Given the description of an element on the screen output the (x, y) to click on. 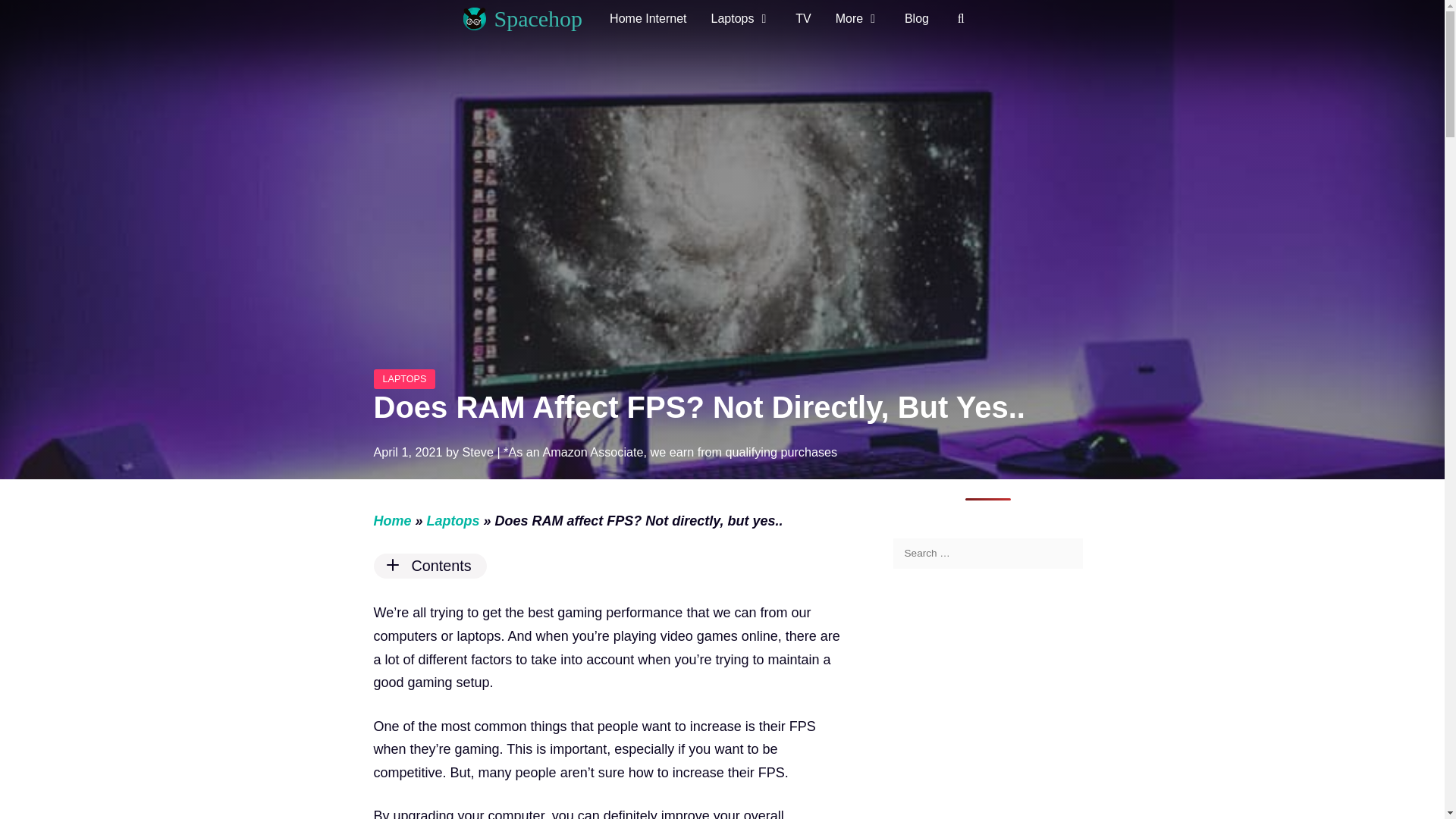
Laptops (741, 18)
TV (802, 18)
Blog (916, 18)
View all posts by Steve (477, 451)
Search for: (988, 553)
Home Internet (647, 18)
Spacehop (537, 18)
Contents (607, 566)
More (858, 18)
